Given the description of an element on the screen output the (x, y) to click on. 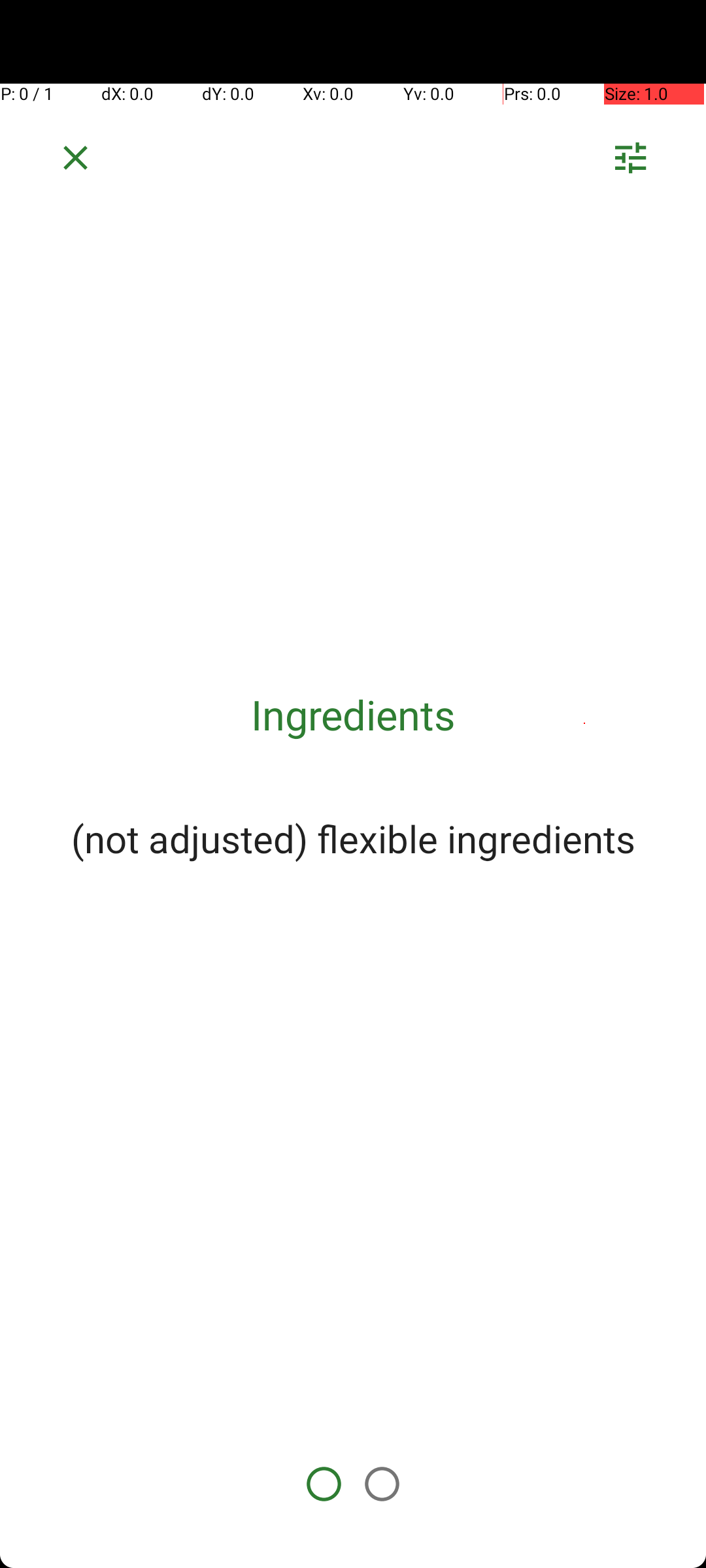
(not adjusted) flexible ingredients Element type: android.widget.TextView (352, 838)
